Given the description of an element on the screen output the (x, y) to click on. 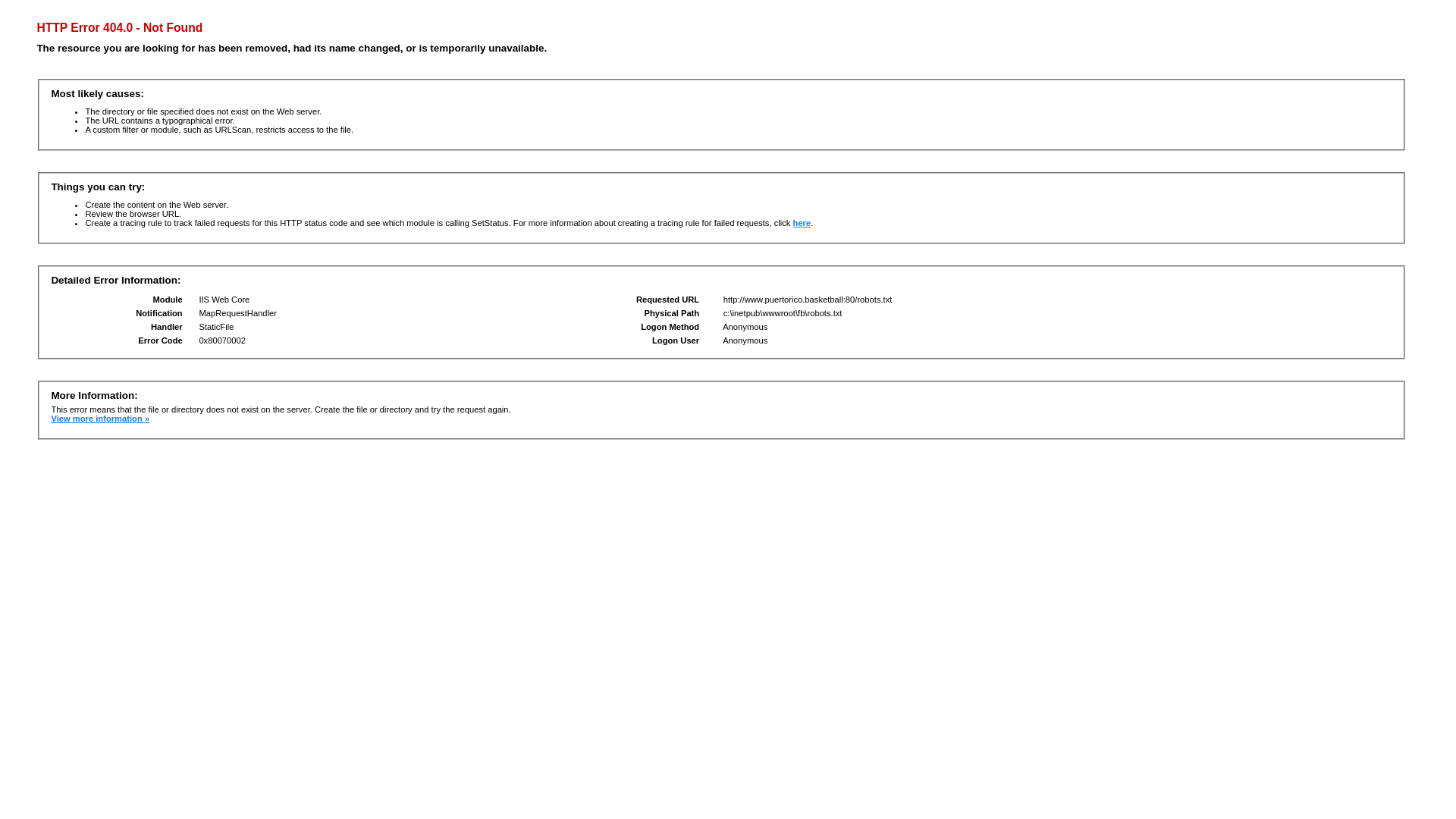
here Element type: text (802, 222)
